Given the description of an element on the screen output the (x, y) to click on. 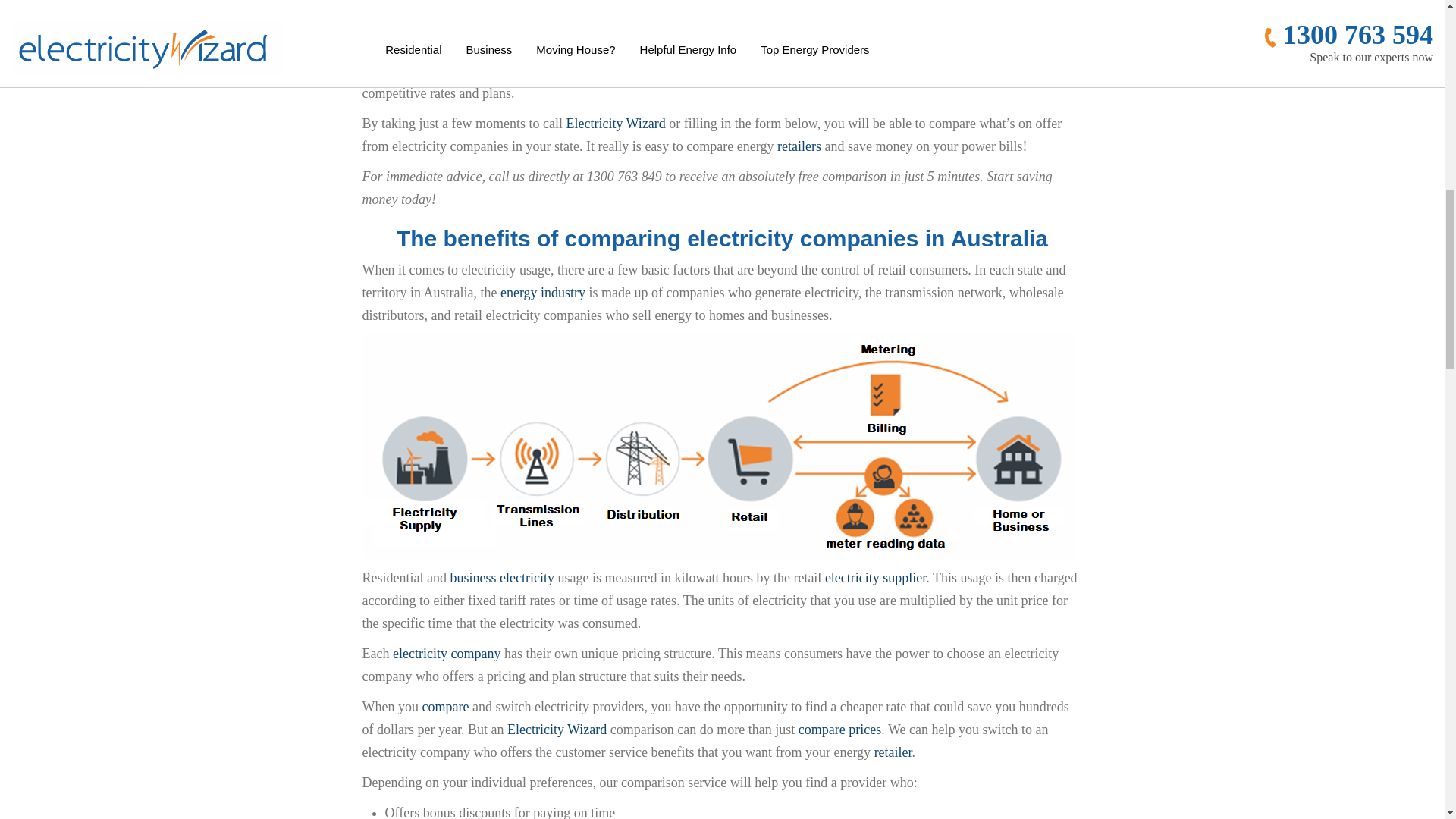
retailer (893, 752)
electricity supplier (875, 577)
retailers (799, 145)
Compare electricity (445, 706)
Electricity Wizard (556, 729)
Electricity (607, 47)
Electricity Wizard (615, 123)
Electricity company (898, 17)
business electricity (501, 577)
ElectricityWizard (721, 17)
electricity supplier (446, 653)
retailers (934, 70)
